Given the description of an element on the screen output the (x, y) to click on. 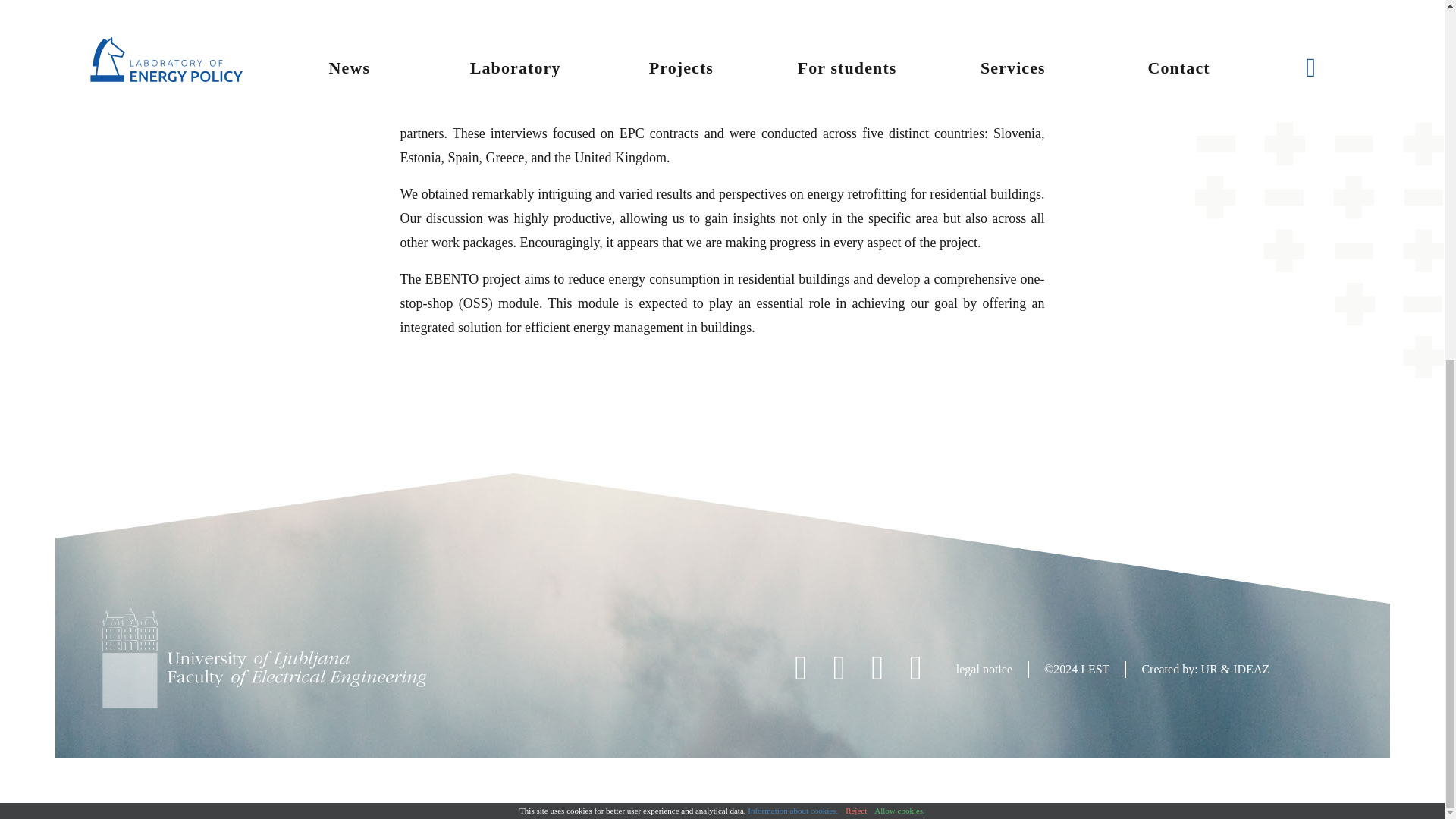
legal notice (983, 669)
IRI UL (547, 109)
Allow cookies. (899, 171)
Information about cookies. (793, 171)
IDEAZ (1251, 669)
Reject (855, 171)
